Given the description of an element on the screen output the (x, y) to click on. 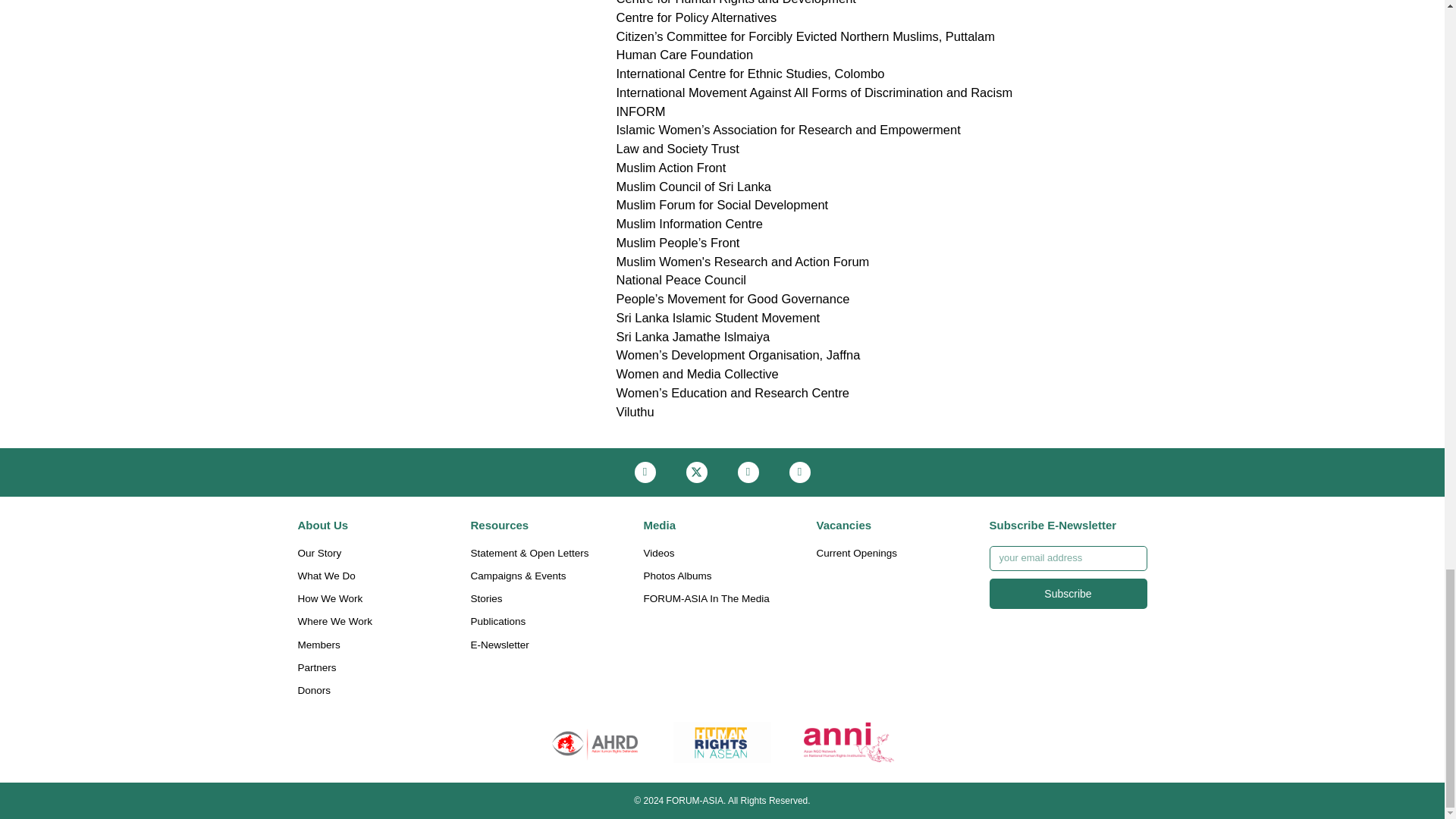
Default Title (722, 741)
Default Title (595, 741)
Default Title (848, 741)
